Given the description of an element on the screen output the (x, y) to click on. 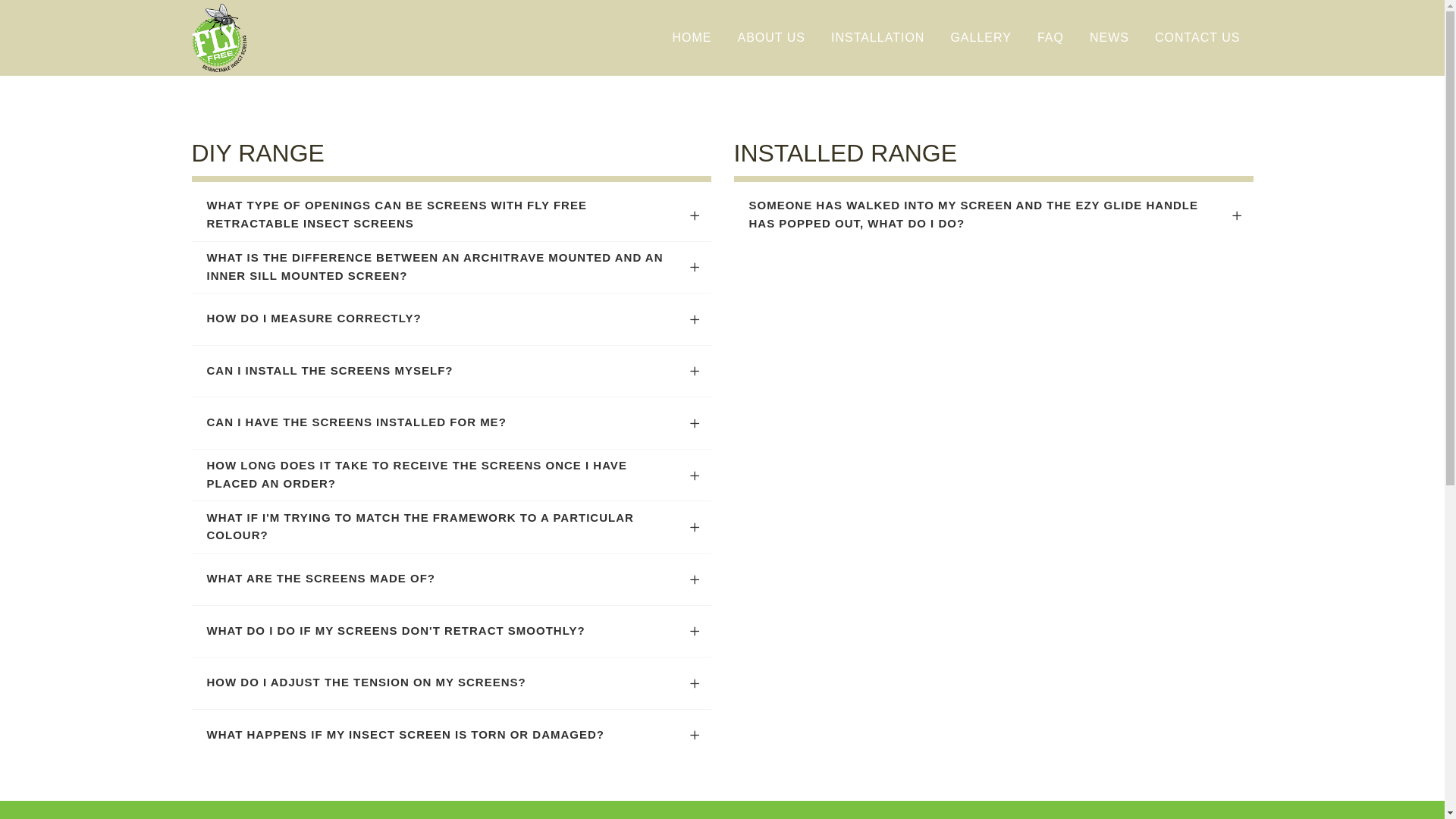
ABOUT US Element type: text (771, 37)
CONTACT US Element type: text (1197, 37)
NEWS Element type: text (1109, 37)
HOME Element type: text (691, 37)
FAQ Element type: text (1050, 37)
INSTALLATION Element type: text (877, 37)
GALLERY Element type: text (980, 37)
